Given the description of an element on the screen output the (x, y) to click on. 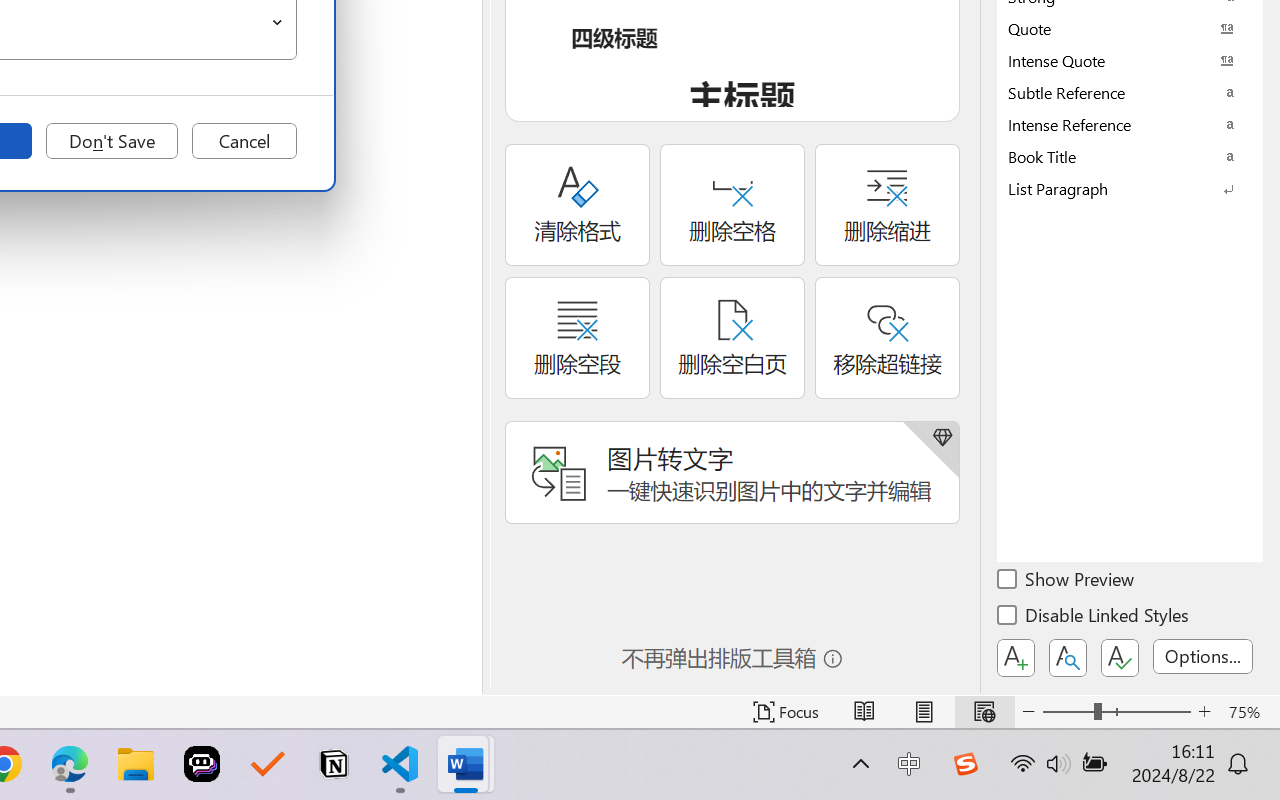
Options... (1203, 656)
Disable Linked Styles (1094, 618)
Intense Reference (1130, 124)
Don't Save (111, 141)
Zoom Out (1067, 712)
Subtle Reference (1130, 92)
